Given the description of an element on the screen output the (x, y) to click on. 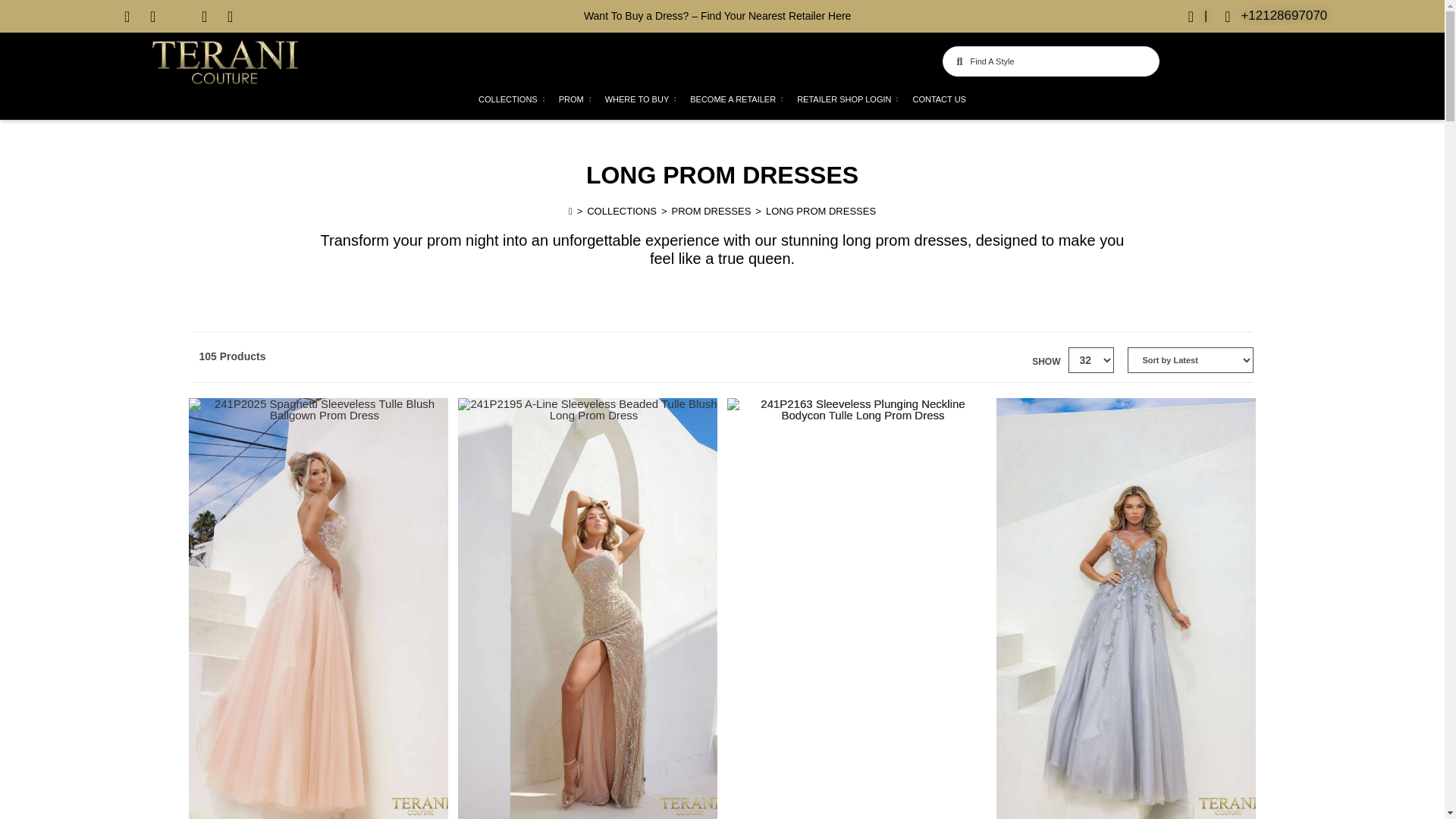
COLLECTIONS (507, 99)
